Given the description of an element on the screen output the (x, y) to click on. 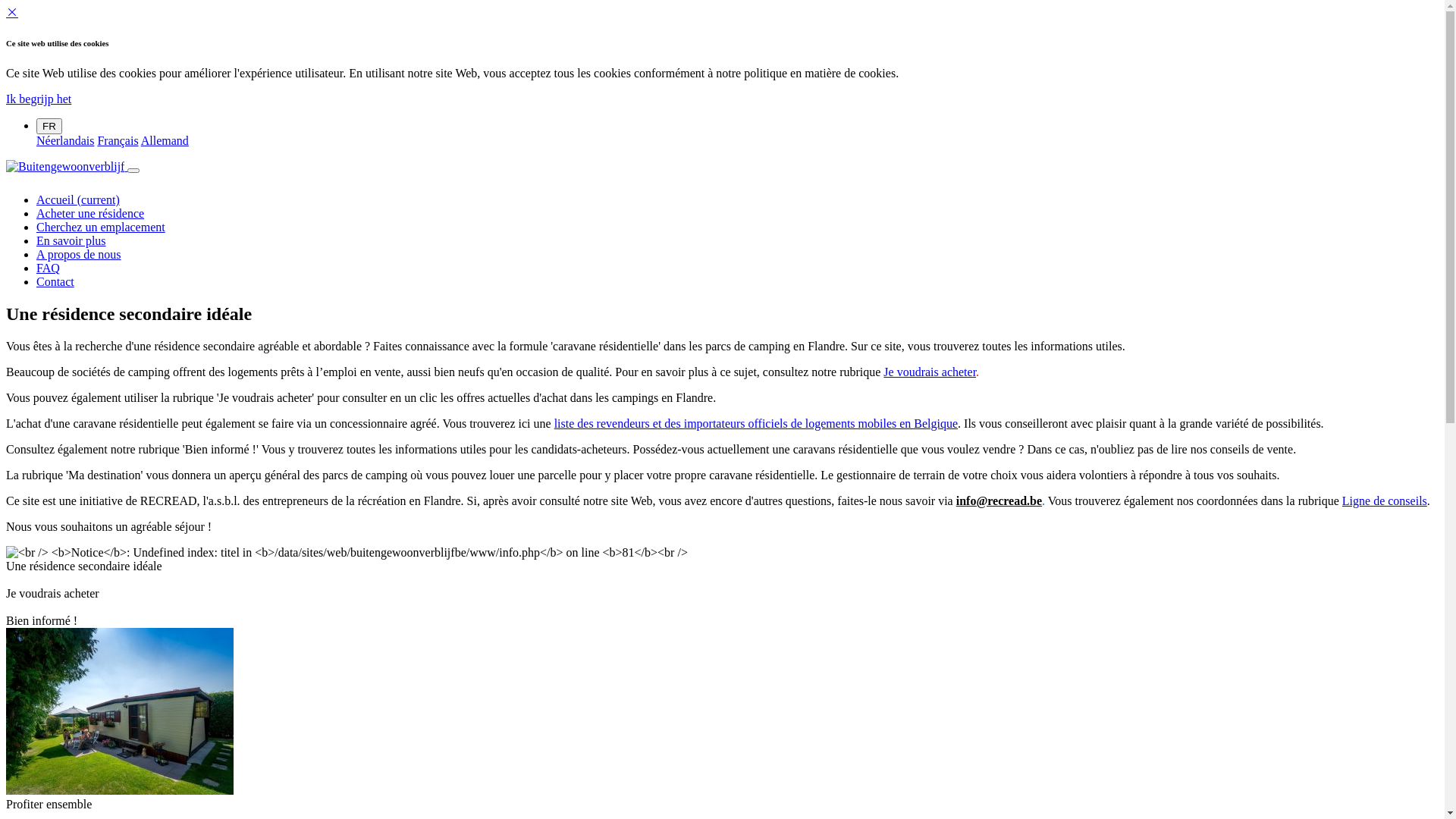
Fermer la notification Element type: hover (12, 12)
info@recread.be Element type: text (998, 500)
Je voudrais acheter Element type: text (929, 371)
A propos de nous Element type: text (78, 253)
FR Element type: text (49, 126)
Accueil (current) Element type: text (77, 199)
Ligne de conseils Element type: text (1384, 500)
Contact Element type: text (55, 281)
FAQ Element type: text (47, 267)
Cherchez un emplacement Element type: text (100, 226)
En savoir plus Element type: text (71, 240)
Allemand Element type: text (164, 140)
Ik begrijp het Element type: text (38, 98)
